Given the description of an element on the screen output the (x, y) to click on. 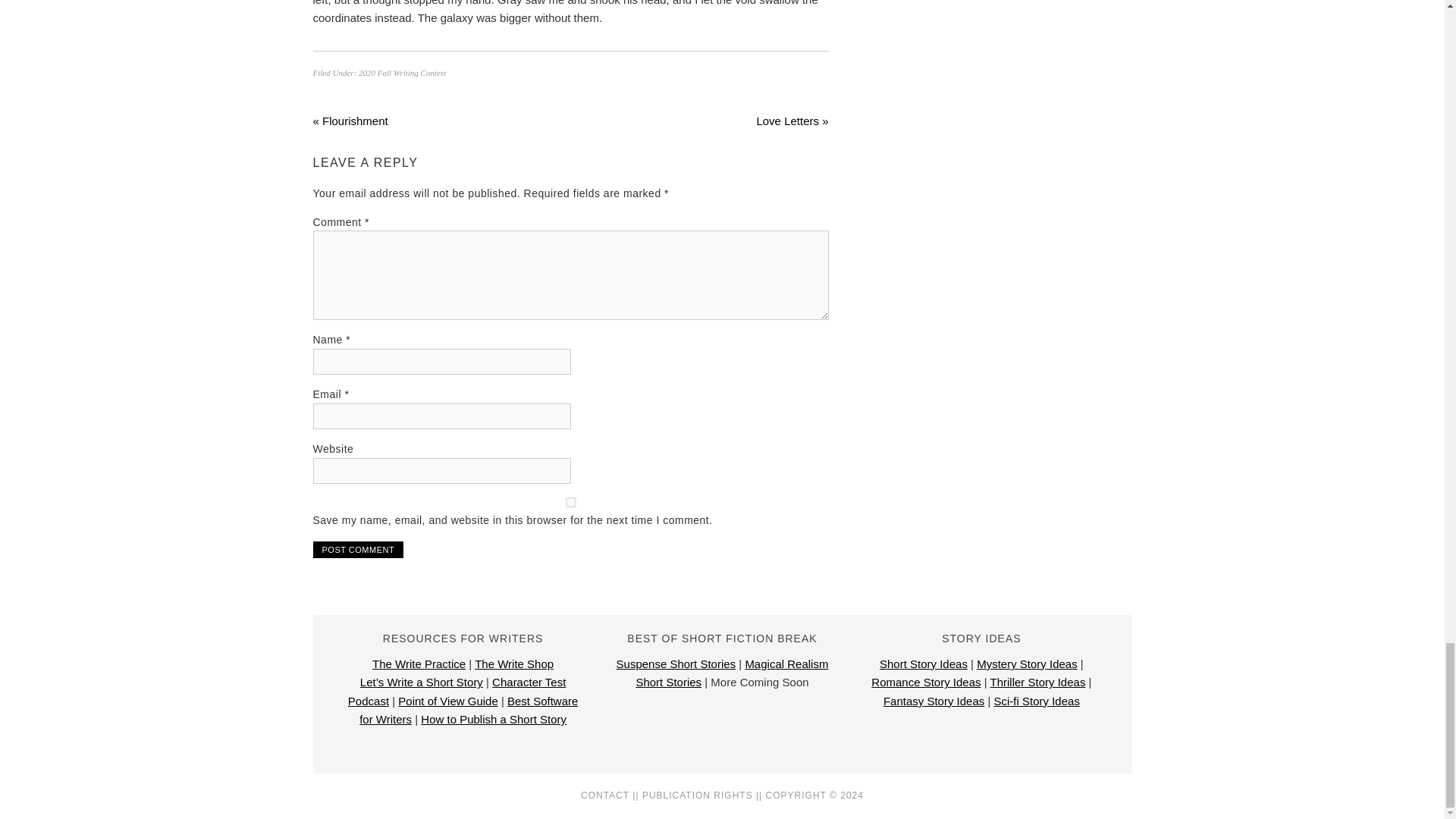
2020 Fall Writing Contest (401, 71)
yes (570, 501)
Post Comment (358, 549)
Post Comment (358, 549)
